Given the description of an element on the screen output the (x, y) to click on. 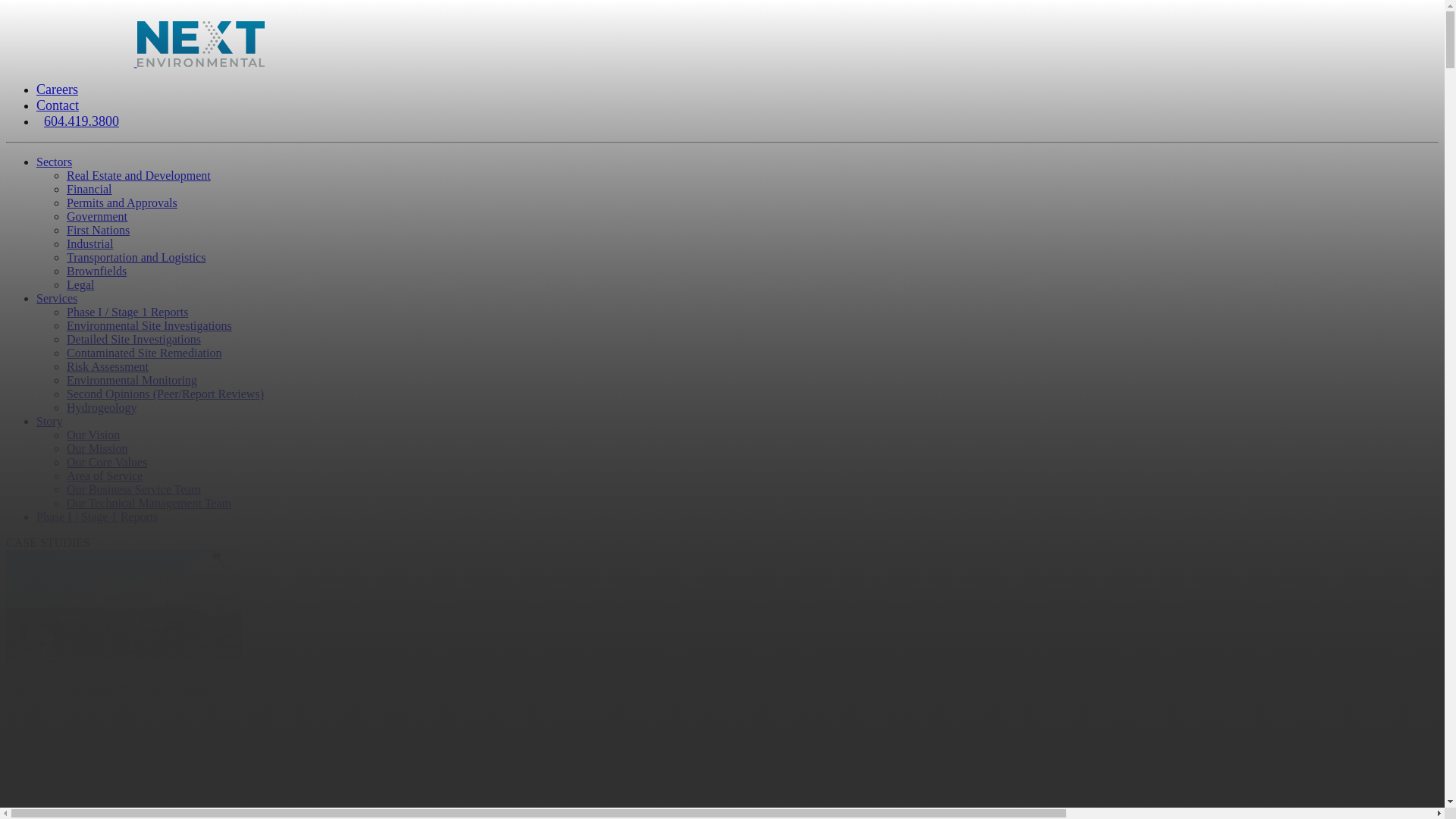
Hydrogeology Element type: text (101, 407)
Brownfields Element type: text (96, 270)
Story Element type: text (49, 420)
Sectors Element type: text (54, 161)
Second Opinions (Peer/Report Reviews) Element type: text (164, 393)
Contaminated Site Remediation Element type: text (143, 352)
Permits and Approvals Element type: text (121, 202)
Our Mission Element type: text (96, 448)
Phase I / Stage 1 Reports Element type: text (127, 311)
604.419.3800 Element type: text (81, 120)
Environmental Monitoring Element type: text (131, 379)
Area of Service Element type: text (104, 475)
Legal Element type: text (80, 284)
Our Technical Management Team Element type: text (148, 502)
Risk Assessment Element type: text (107, 366)
First Nations Element type: text (97, 229)
Environmental Site Investigations Element type: text (149, 325)
Transportation and Logistics Element type: text (135, 257)
Phase I / Stage 1 Reports Element type: text (96, 516)
Services Element type: text (56, 297)
Detailed Site Investigations Element type: text (133, 338)
Careers Element type: text (57, 89)
Contact Element type: text (57, 104)
Real Estate and Development Element type: text (138, 175)
Our Business Service Team Element type: text (133, 489)
Industrial Element type: text (89, 243)
Our Vision Element type: text (92, 434)
Our Core Values Element type: text (106, 461)
Financial Element type: text (89, 188)
Government Element type: text (96, 216)
